Given the description of an element on the screen output the (x, y) to click on. 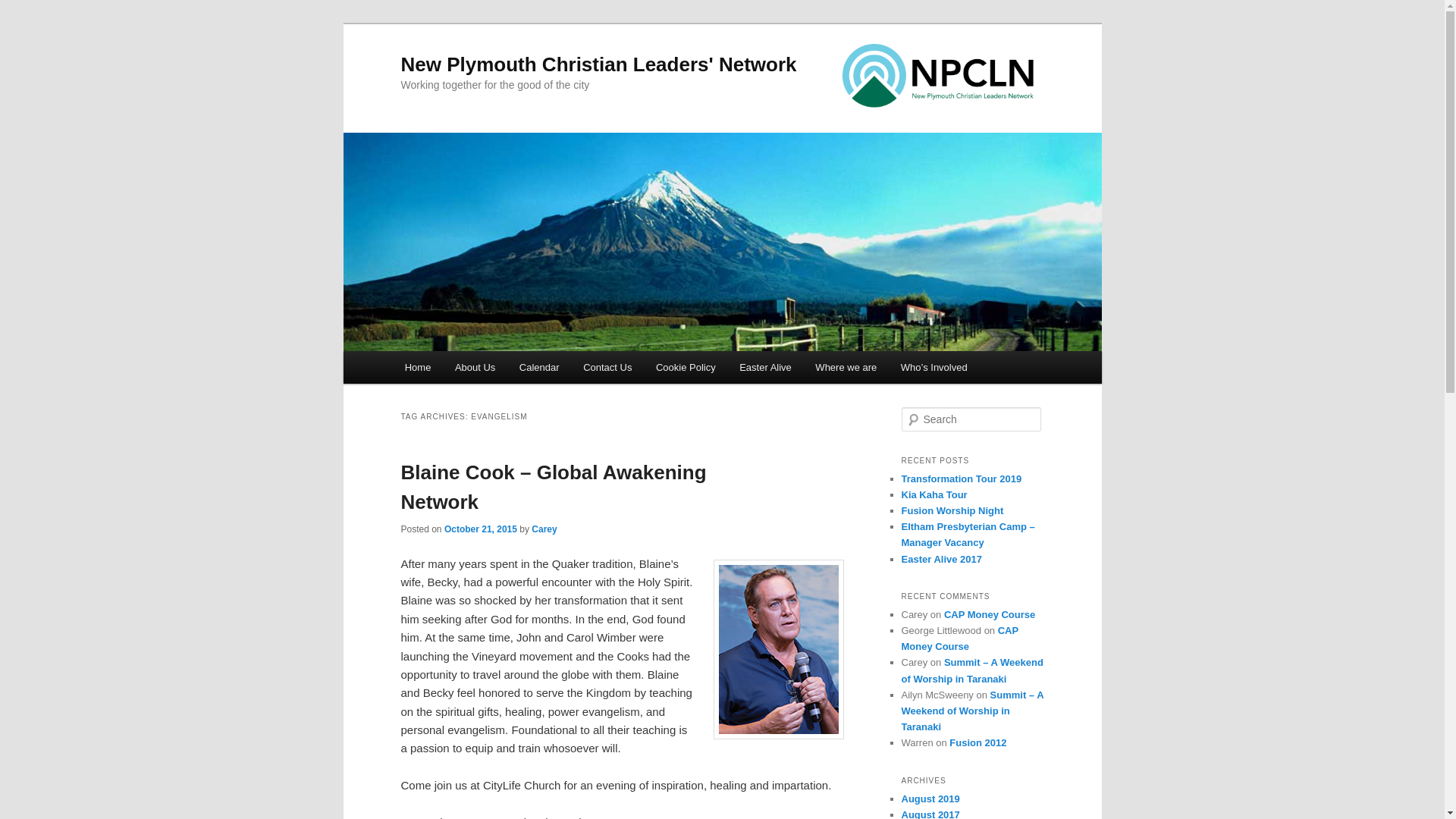
View all posts by Carey (543, 529)
Skip to secondary content (479, 370)
Carey (543, 529)
NPCLN - New Plymouth Christian Leaders' Network (937, 75)
Skip to primary content (472, 370)
New Plymouth Christian Leaders' Network (598, 64)
New Plymouth Christian Leaders' Network (598, 64)
October 21, 2015 (480, 529)
Calendar (538, 367)
Home (417, 367)
Easter Alive (764, 367)
Skip to secondary content (479, 370)
Contact Us (606, 367)
About Us (474, 367)
Where we are (845, 367)
